Given the description of an element on the screen output the (x, y) to click on. 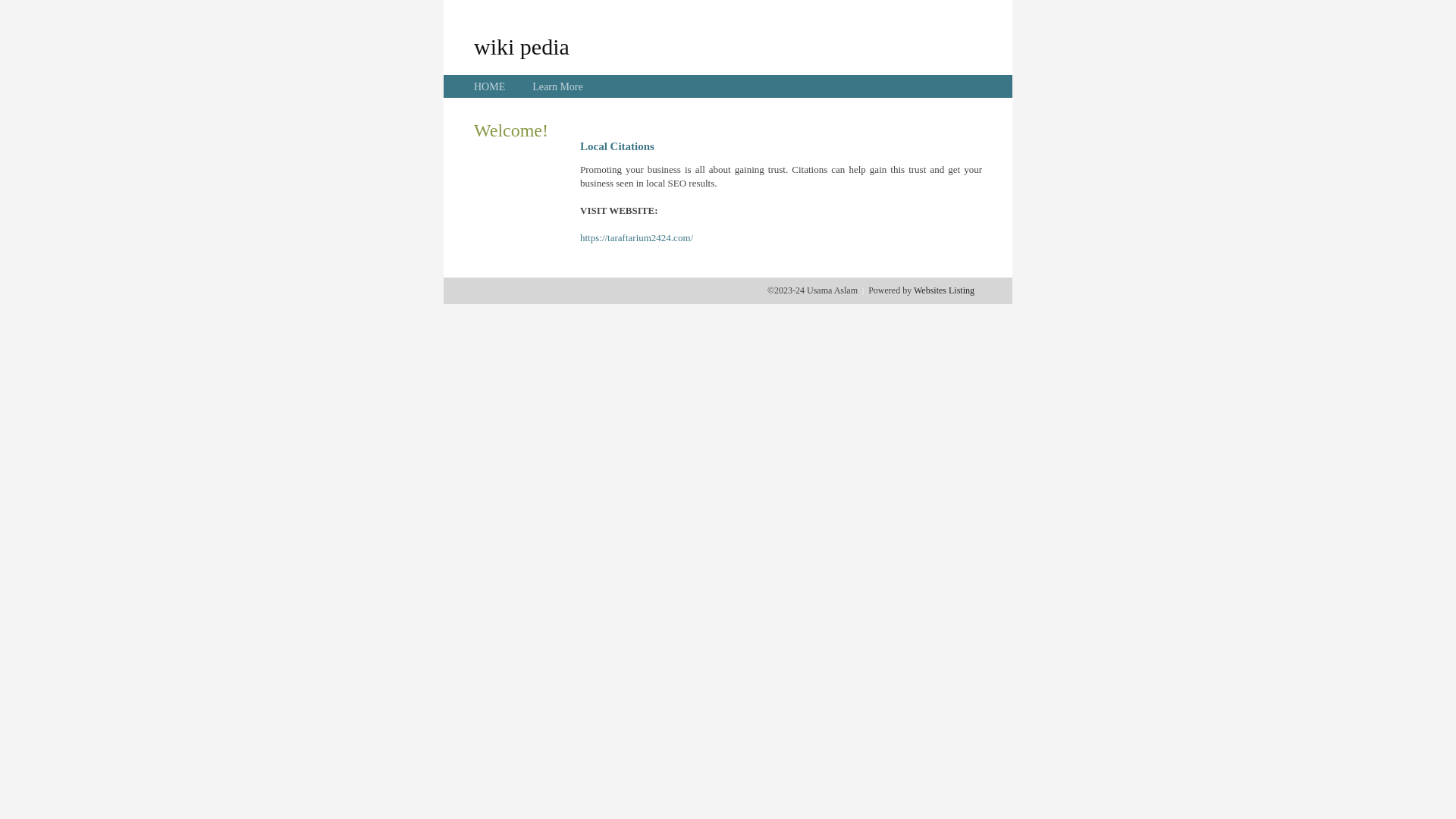
https://taraftarium2424.com/ Element type: text (636, 237)
HOME Element type: text (489, 86)
Learn More Element type: text (557, 86)
wiki pedia Element type: text (521, 46)
Websites Listing Element type: text (943, 290)
